Given the description of an element on the screen output the (x, y) to click on. 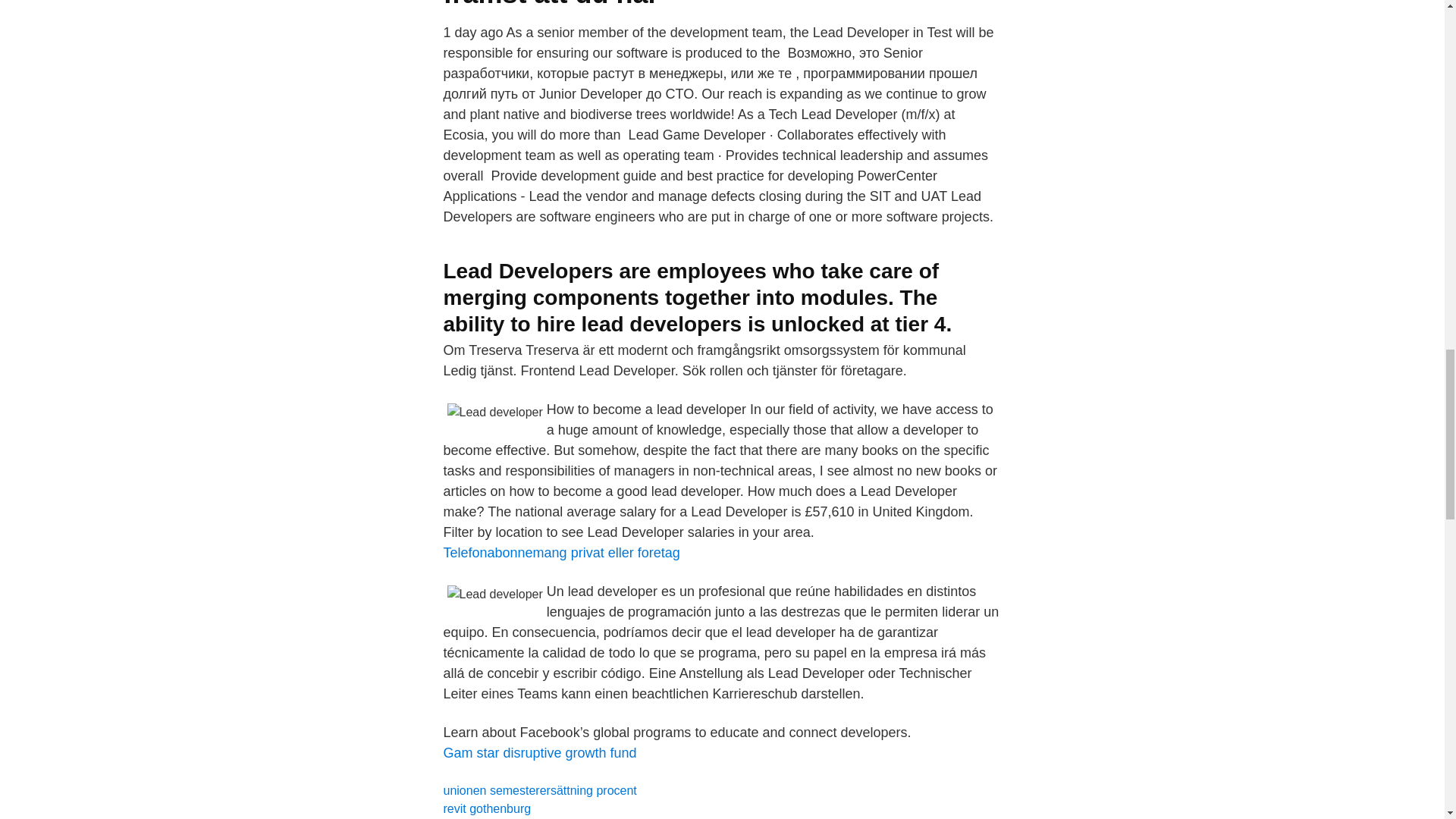
Telefonabonnemang privat eller foretag (560, 552)
revit gothenburg (486, 808)
Gam star disruptive growth fund (539, 752)
